Given the description of an element on the screen output the (x, y) to click on. 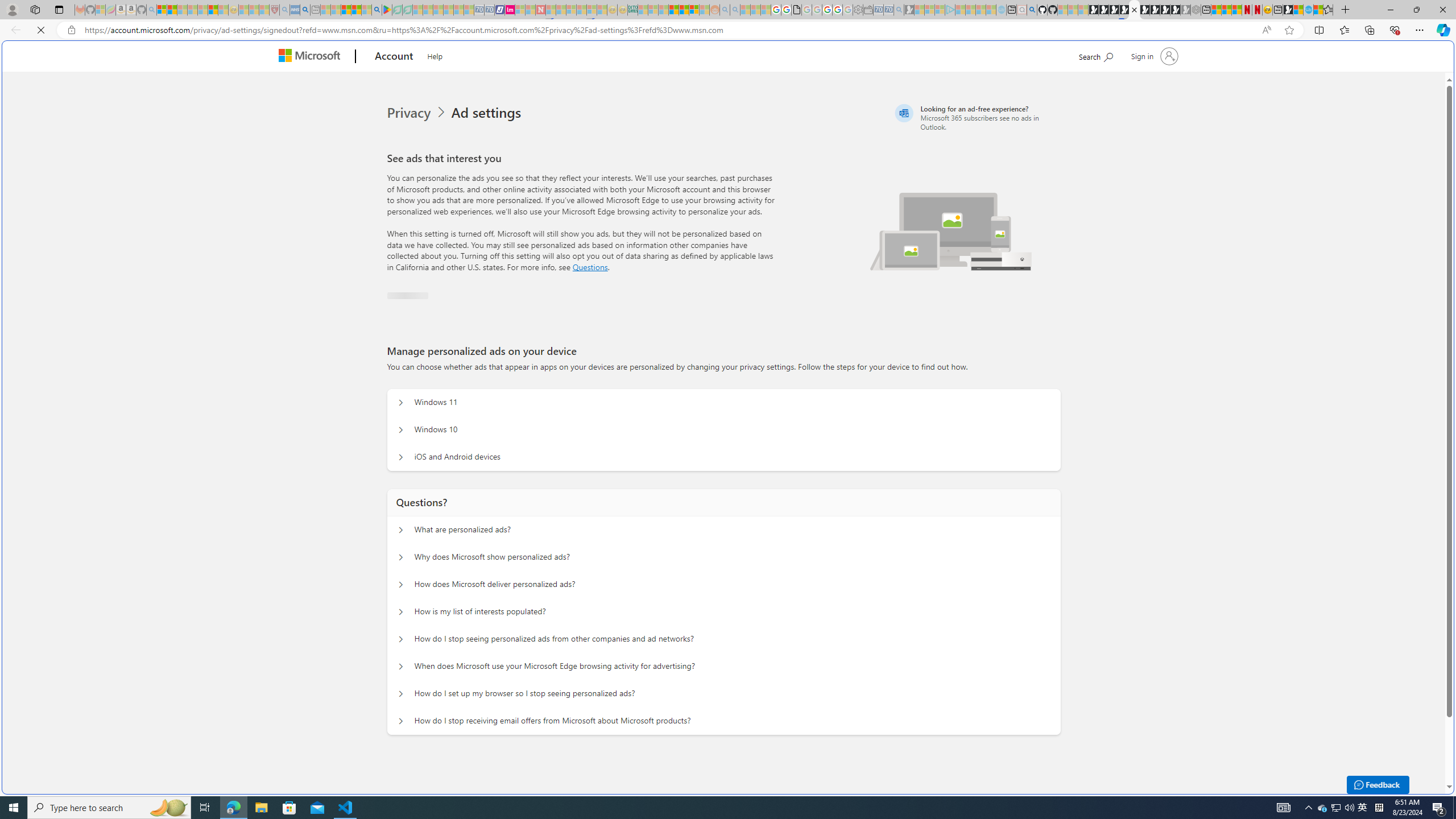
World - MSN (1297, 9)
Play Cave FRVR in your browser | Games from Microsoft Start (1113, 9)
